Given the description of an element on the screen output the (x, y) to click on. 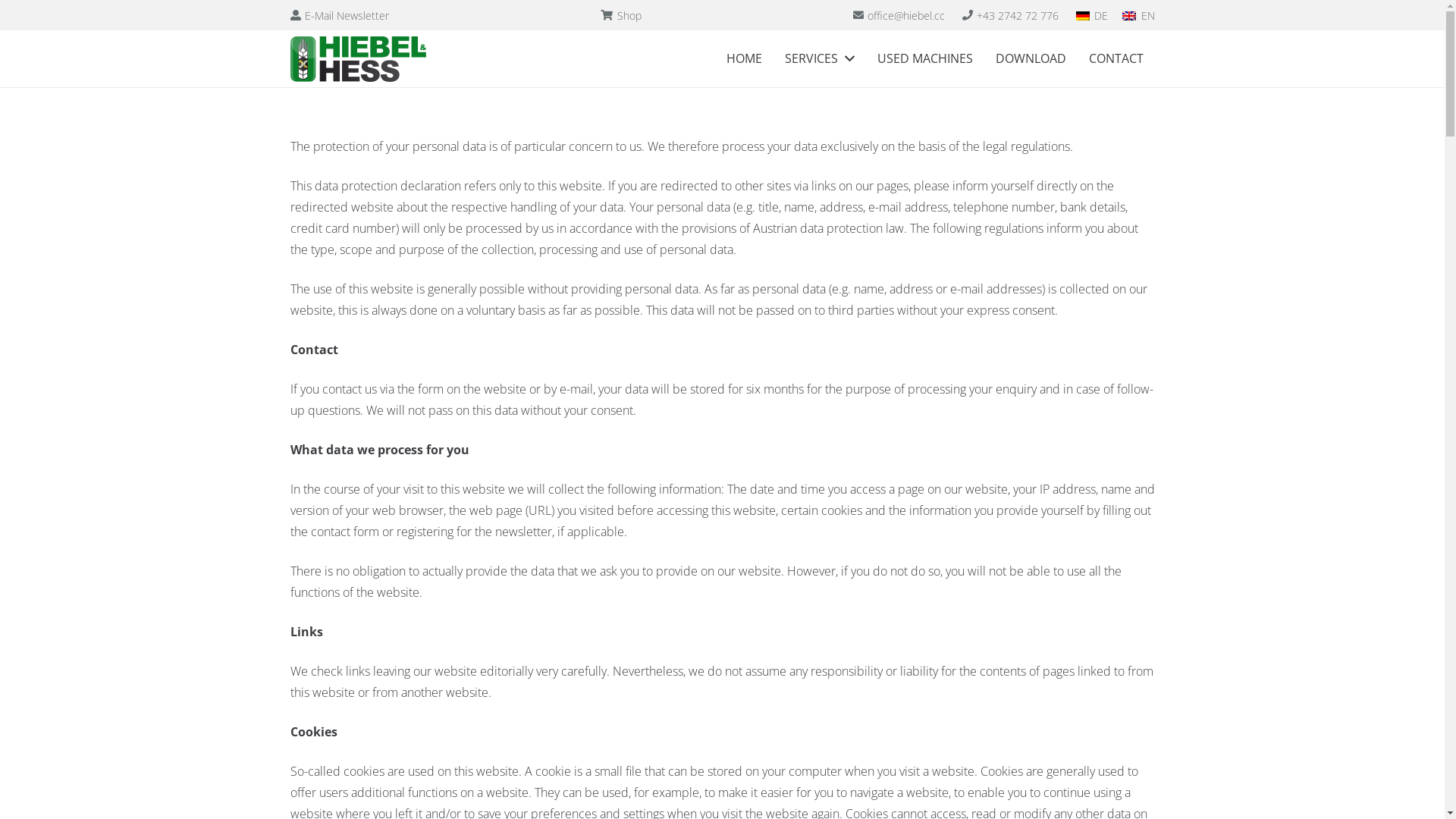
office@hiebel.cc Element type: text (899, 14)
CONTACT Element type: text (1115, 58)
DOWNLOAD Element type: text (1030, 58)
EN Element type: text (1138, 14)
USED MACHINES Element type: text (925, 58)
SERVICES Element type: text (819, 58)
E-Mail Newsletter Element type: text (339, 14)
DE Element type: text (1091, 14)
HOME Element type: text (744, 58)
Shop Element type: text (620, 14)
+43 2742 72 776 Element type: text (1010, 14)
